Given the description of an element on the screen output the (x, y) to click on. 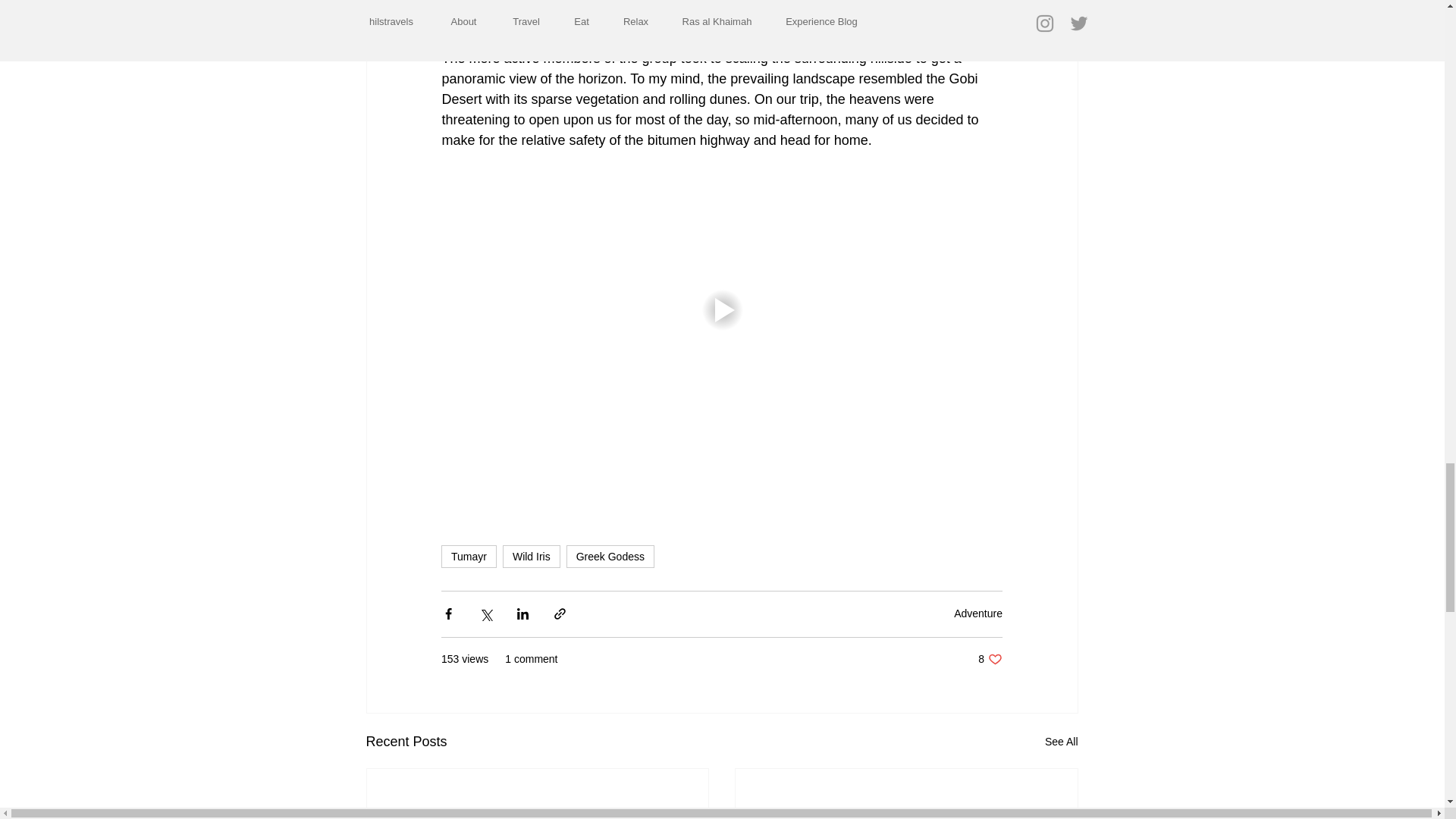
Tumayr (468, 556)
Adventure (990, 658)
Greek Godess (978, 613)
See All (609, 556)
Wild Iris (1061, 741)
